Given the description of an element on the screen output the (x, y) to click on. 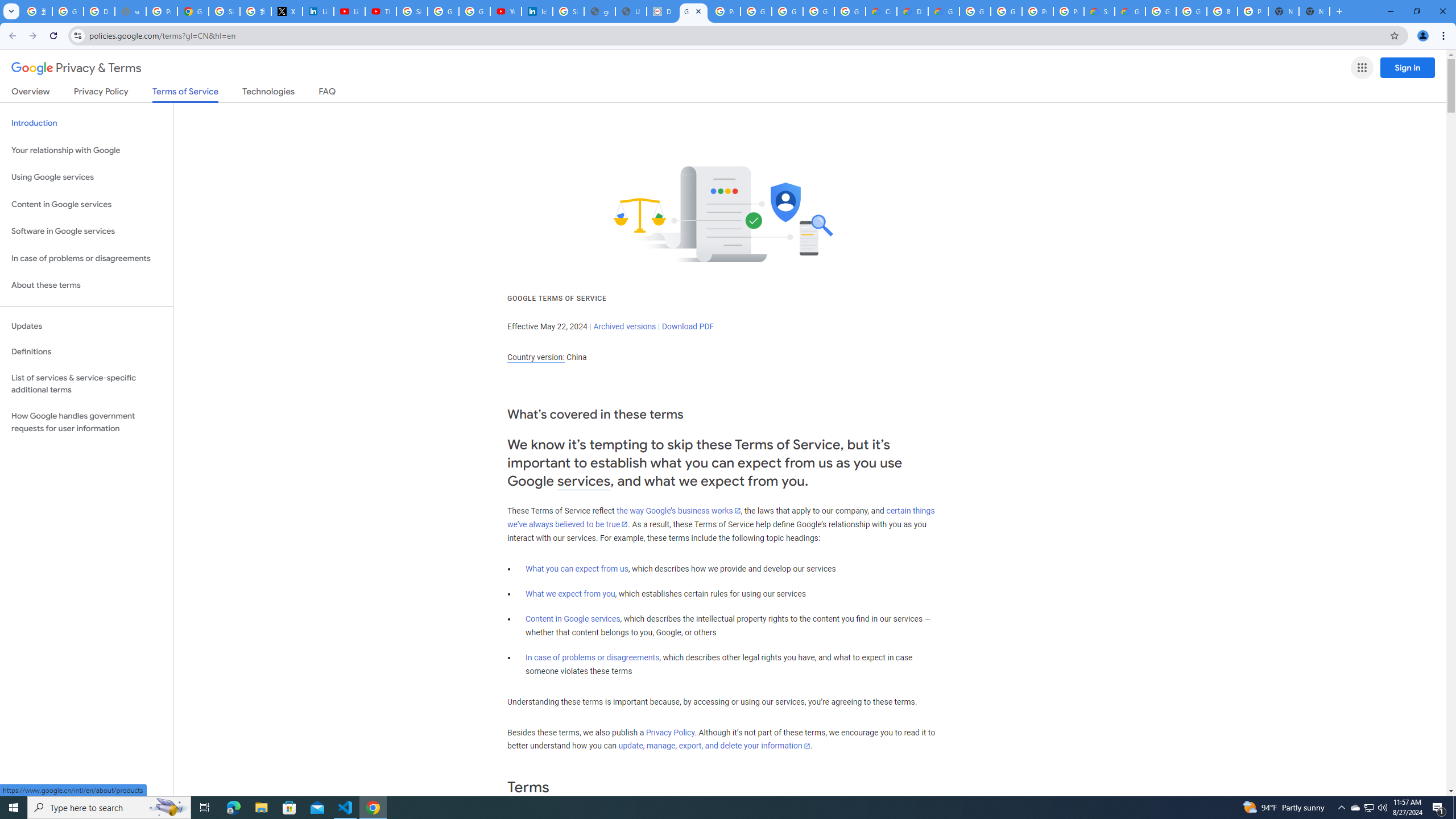
User Details (631, 11)
New Tab (1314, 11)
support.google.com - Network error (130, 11)
What we expect from you (570, 593)
Software in Google services (86, 230)
In case of problems or disagreements (592, 657)
LinkedIn - YouTube (349, 11)
Definitions (86, 352)
